Given the description of an element on the screen output the (x, y) to click on. 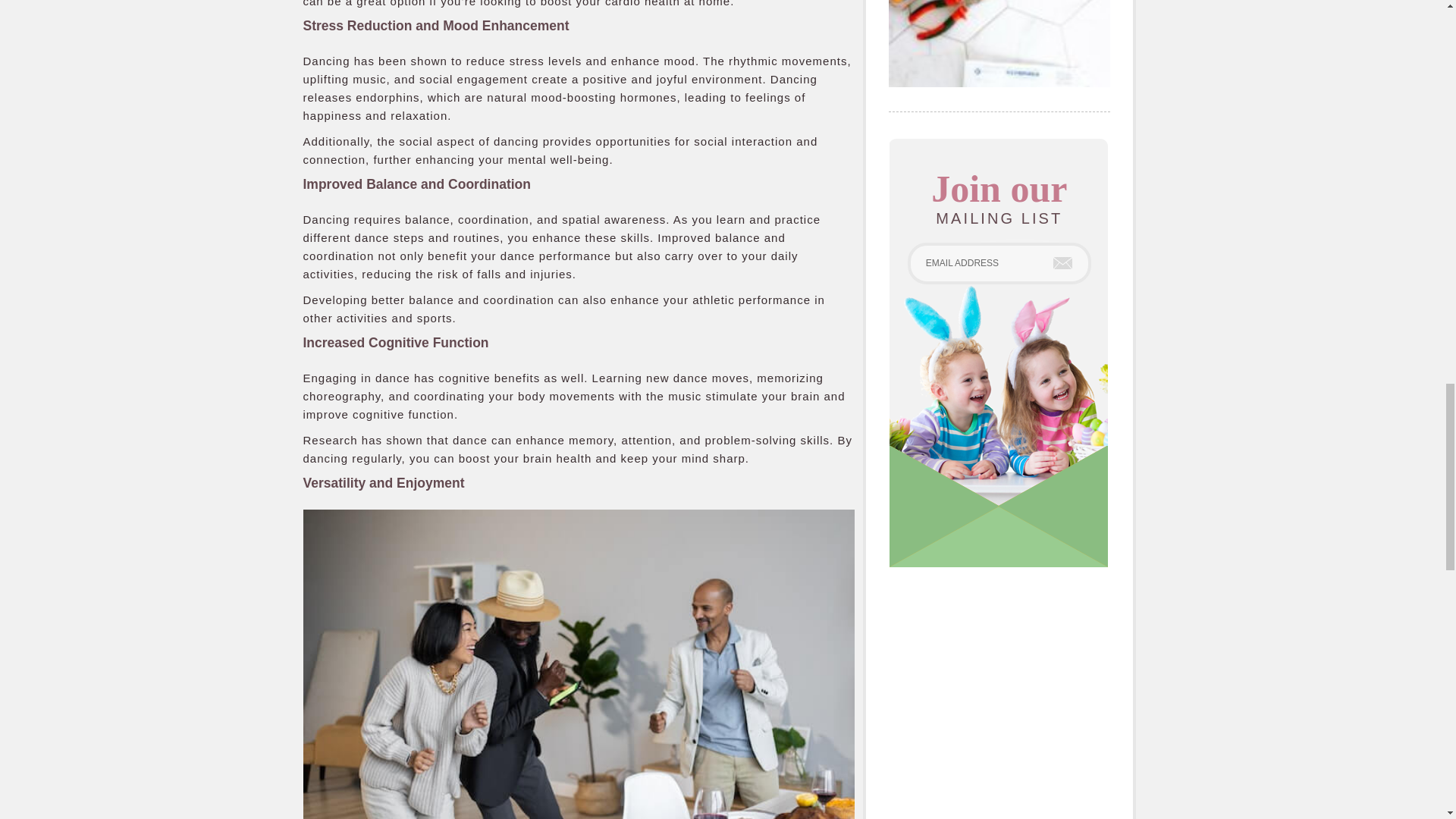
Send (1061, 263)
Send (1061, 263)
Email Address (998, 263)
